Given the description of an element on the screen output the (x, y) to click on. 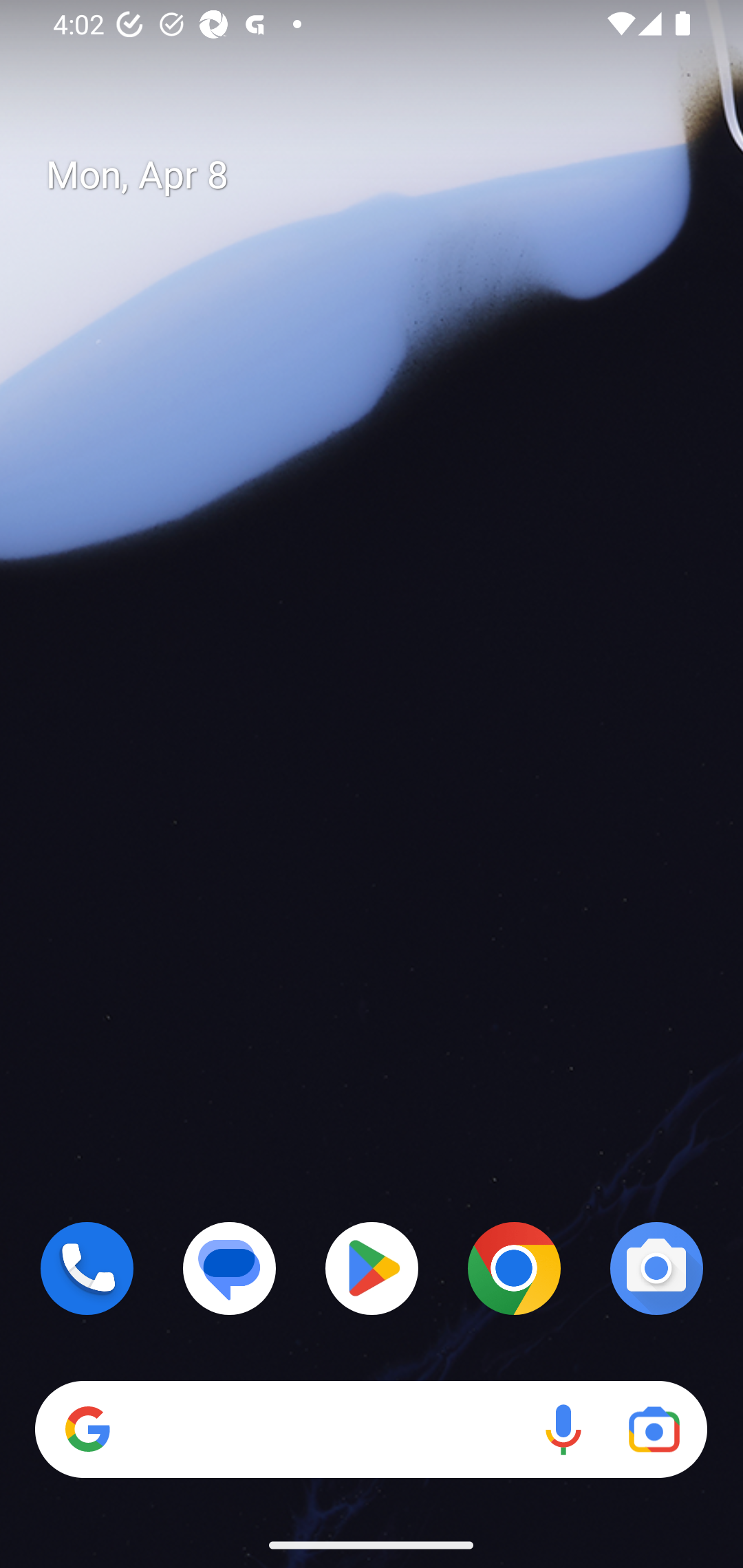
Mon, Apr 8 (386, 175)
Phone (86, 1268)
Messages (229, 1268)
Play Store (371, 1268)
Chrome (513, 1268)
Camera (656, 1268)
Search Voice search Google Lens (370, 1429)
Voice search (562, 1429)
Google Lens (653, 1429)
